Given the description of an element on the screen output the (x, y) to click on. 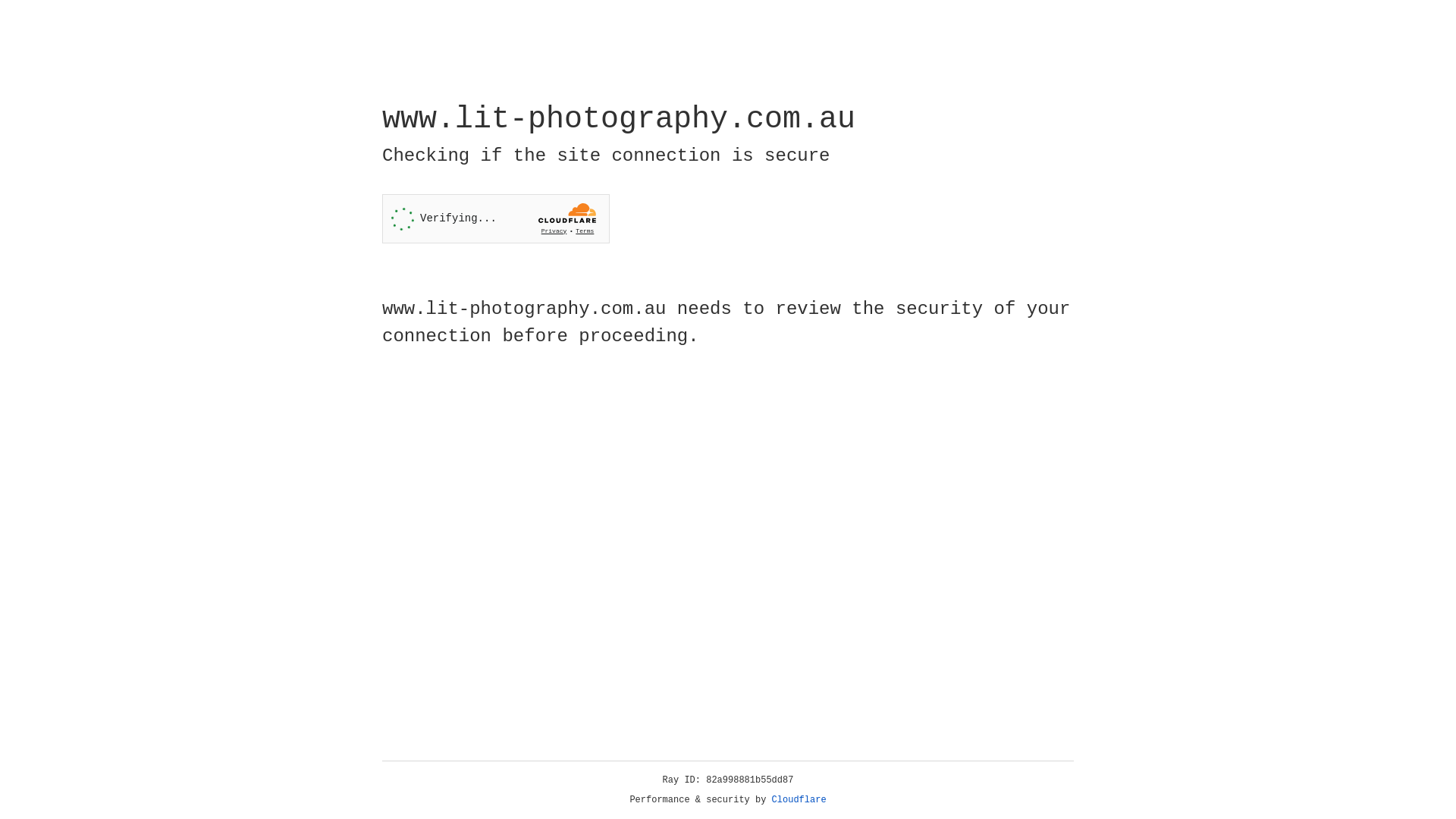
Widget containing a Cloudflare security challenge Element type: hover (495, 218)
Cloudflare Element type: text (798, 799)
